Given the description of an element on the screen output the (x, y) to click on. 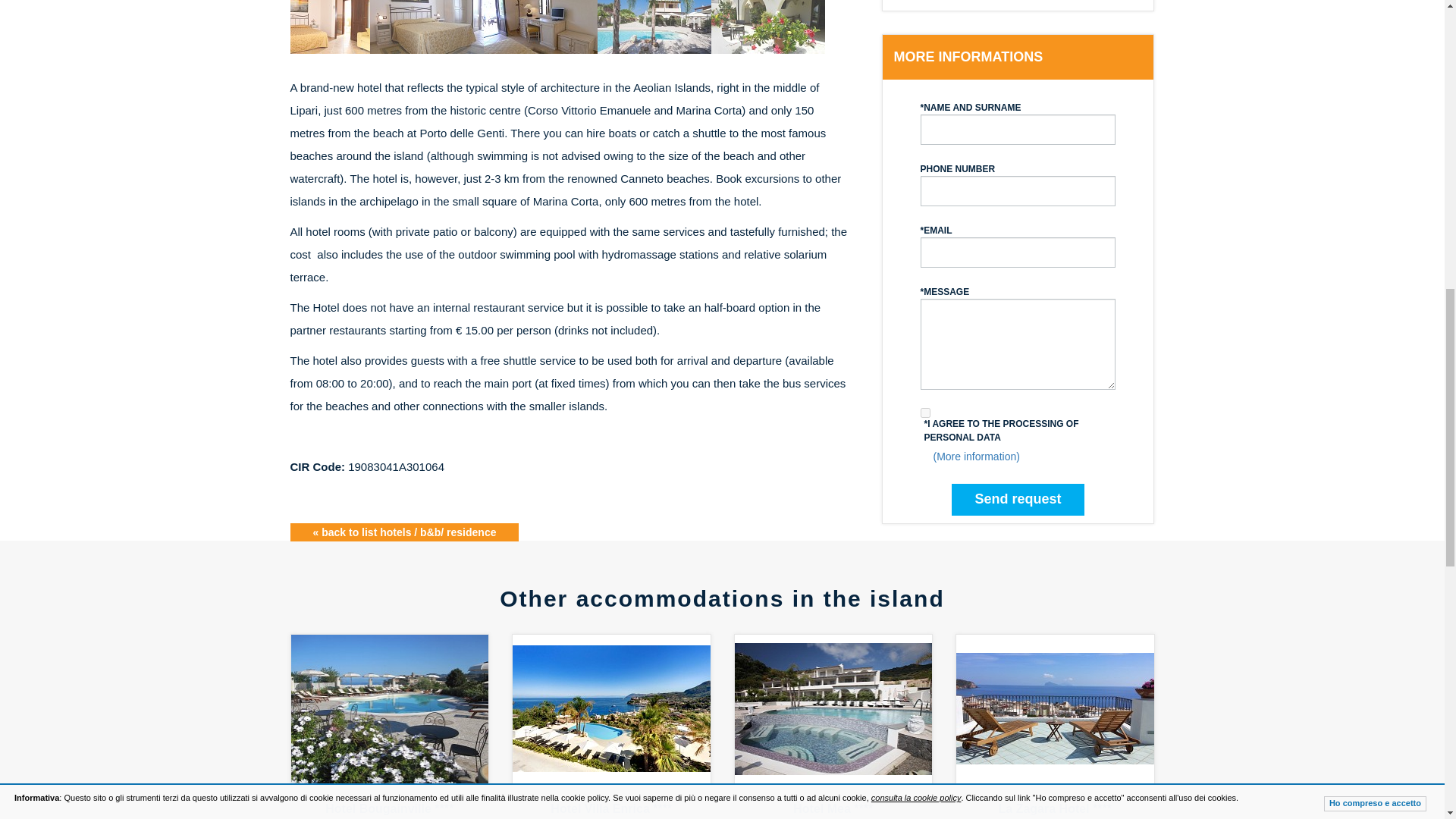
Send request (1017, 499)
1 (925, 412)
